Given the description of an element on the screen output the (x, y) to click on. 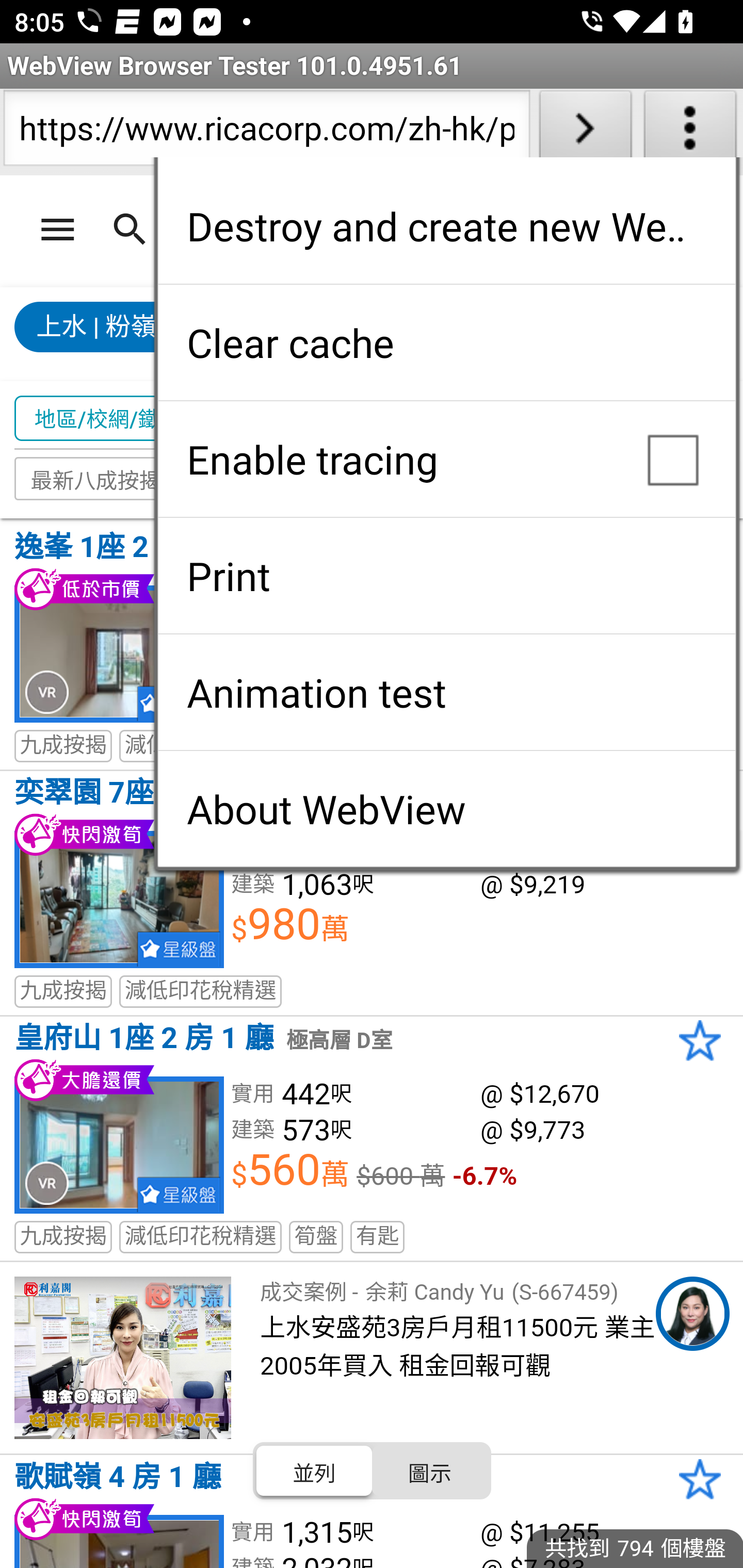
Destroy and create new WebView (446, 225)
Clear cache (446, 342)
Enable tracing (446, 459)
Print (446, 575)
Animation test (446, 692)
About WebView (446, 809)
